Given the description of an element on the screen output the (x, y) to click on. 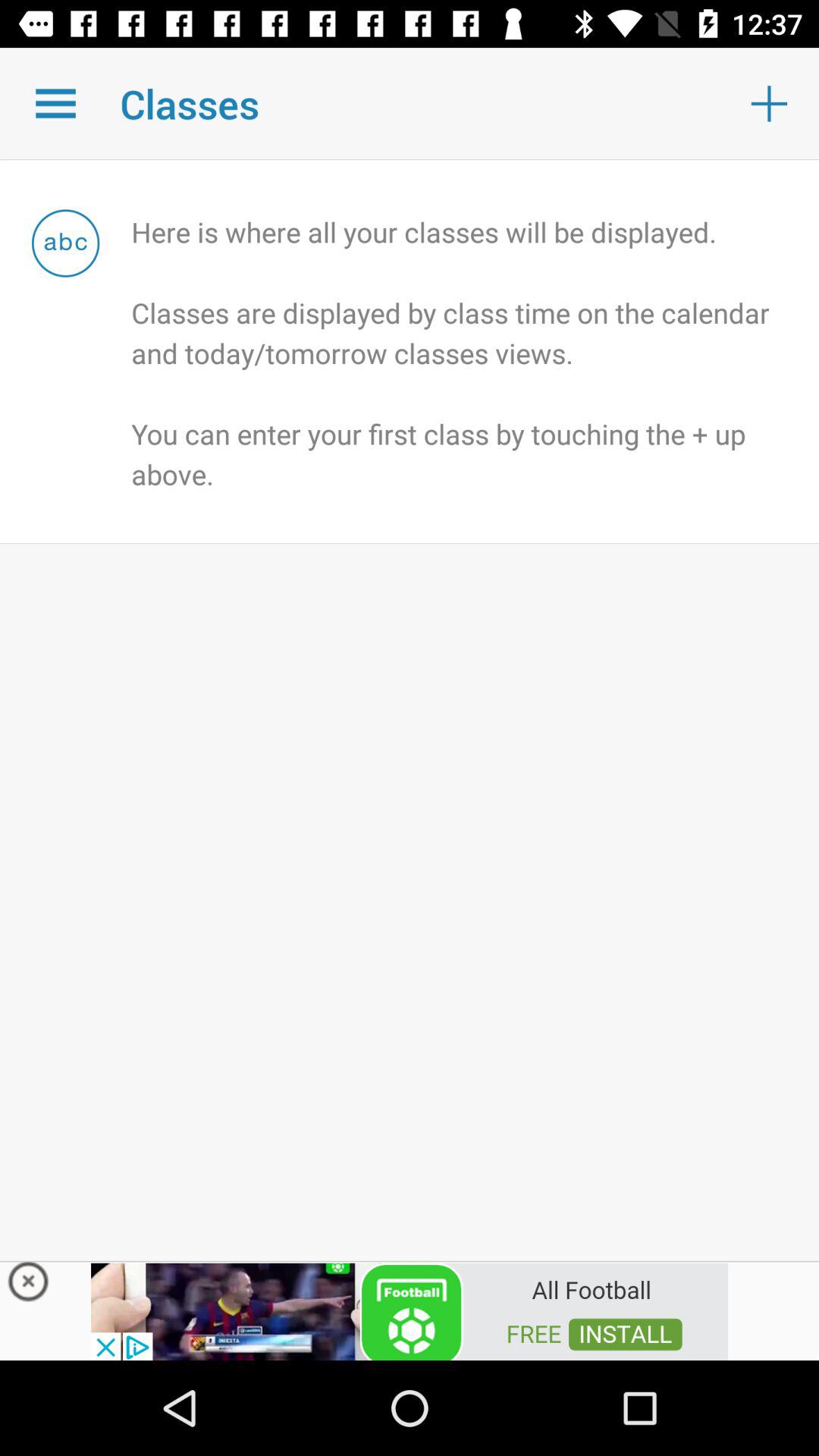
tap for menu (55, 103)
